Given the description of an element on the screen output the (x, y) to click on. 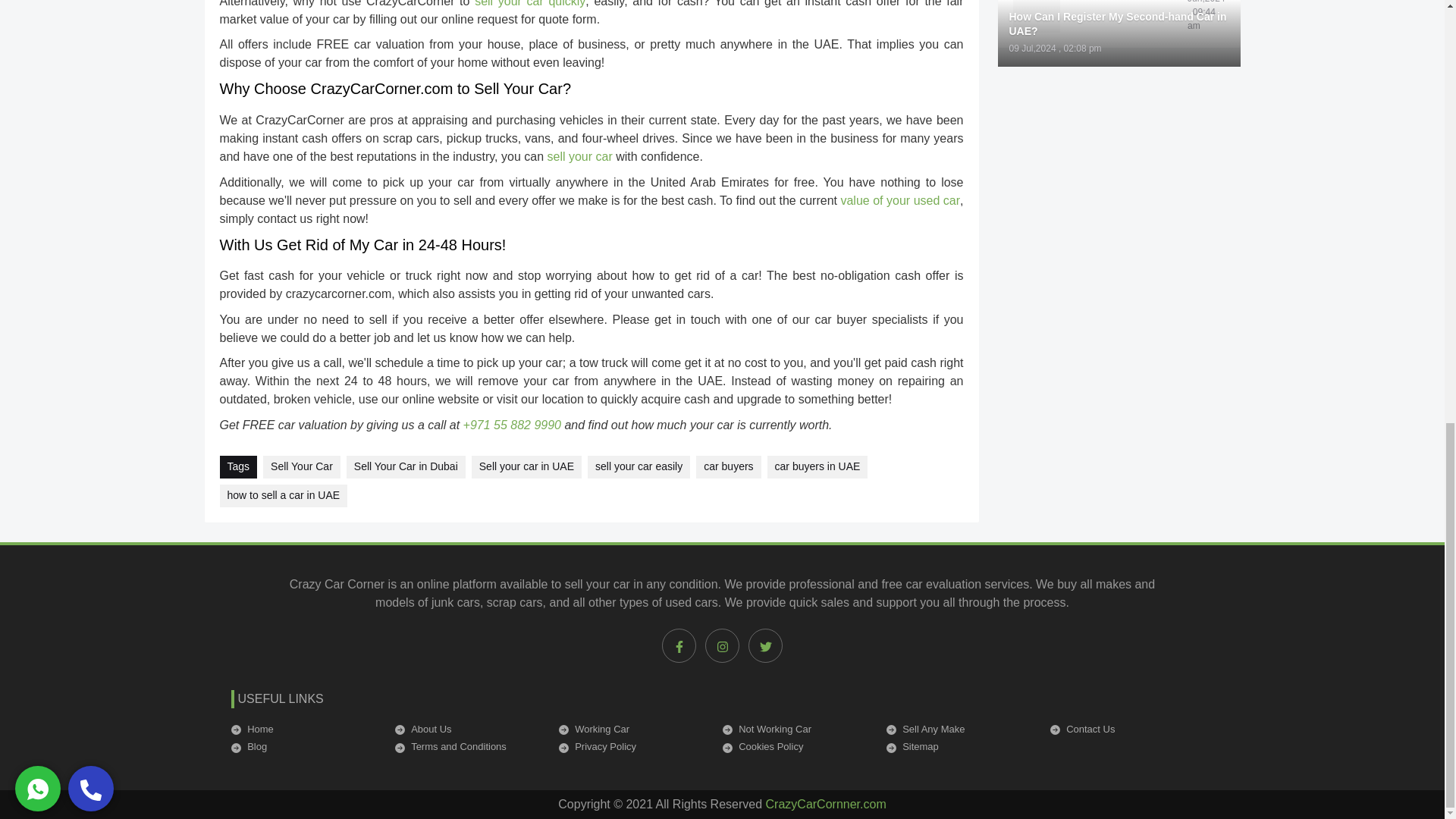
About Us (467, 729)
used cars (691, 602)
Working Car (630, 729)
sell your car quickly (529, 3)
Cookies Policy (794, 746)
sell your car (579, 155)
Not Working Car (794, 729)
Home (302, 729)
Privacy Policy (630, 746)
Contact Us (1122, 729)
Blog (302, 746)
Sell Any Make (957, 729)
value of your used car (899, 200)
How Can I Register My Second-hand Car in UAE? (1118, 23)
Terms and Conditions (467, 746)
